Given the description of an element on the screen output the (x, y) to click on. 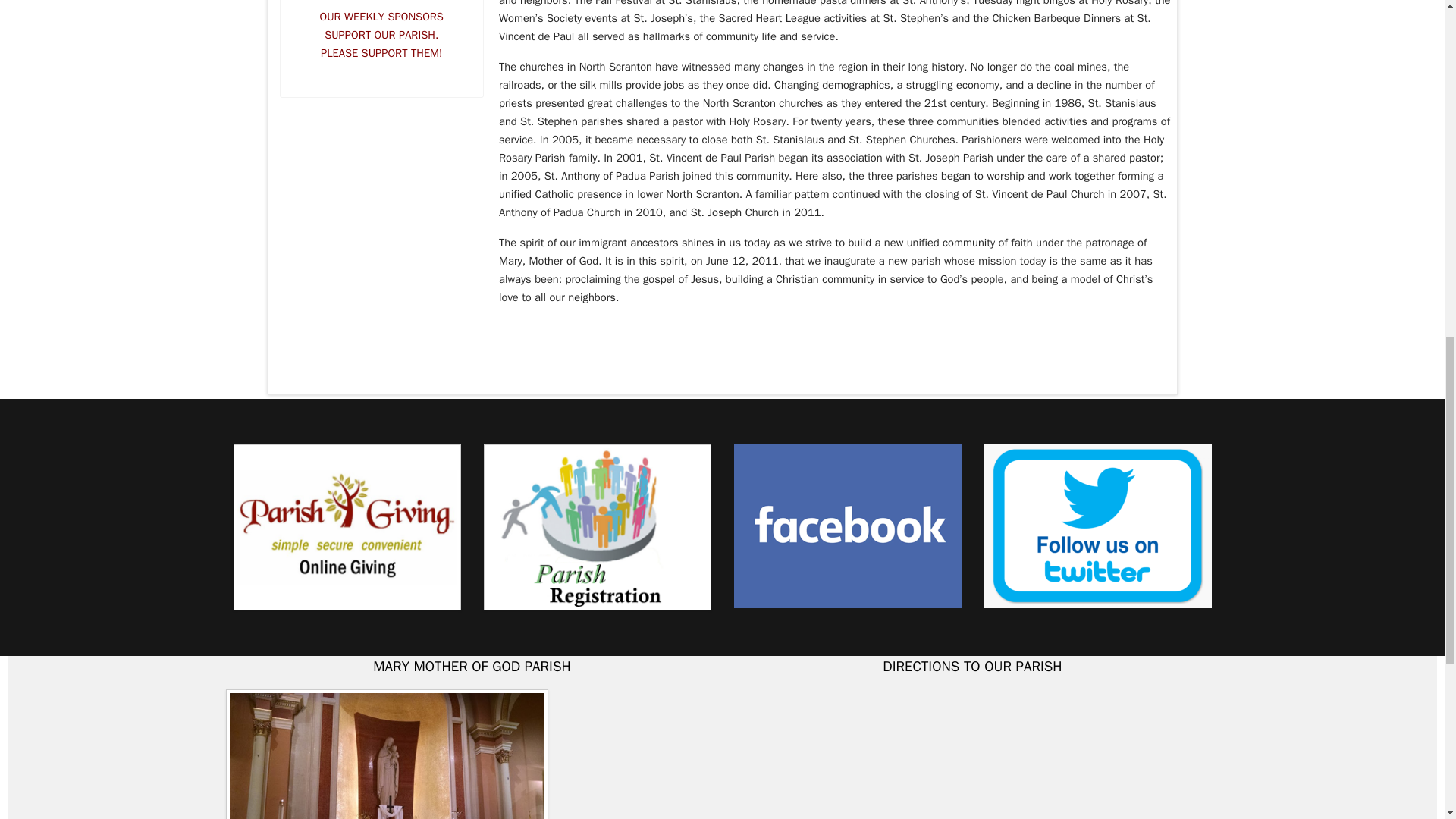
OUR WEEKLY SPONSORS SUPPORT OUR PARISH. (382, 25)
PLEASE SUPPORT THEM! (381, 52)
